Given the description of an element on the screen output the (x, y) to click on. 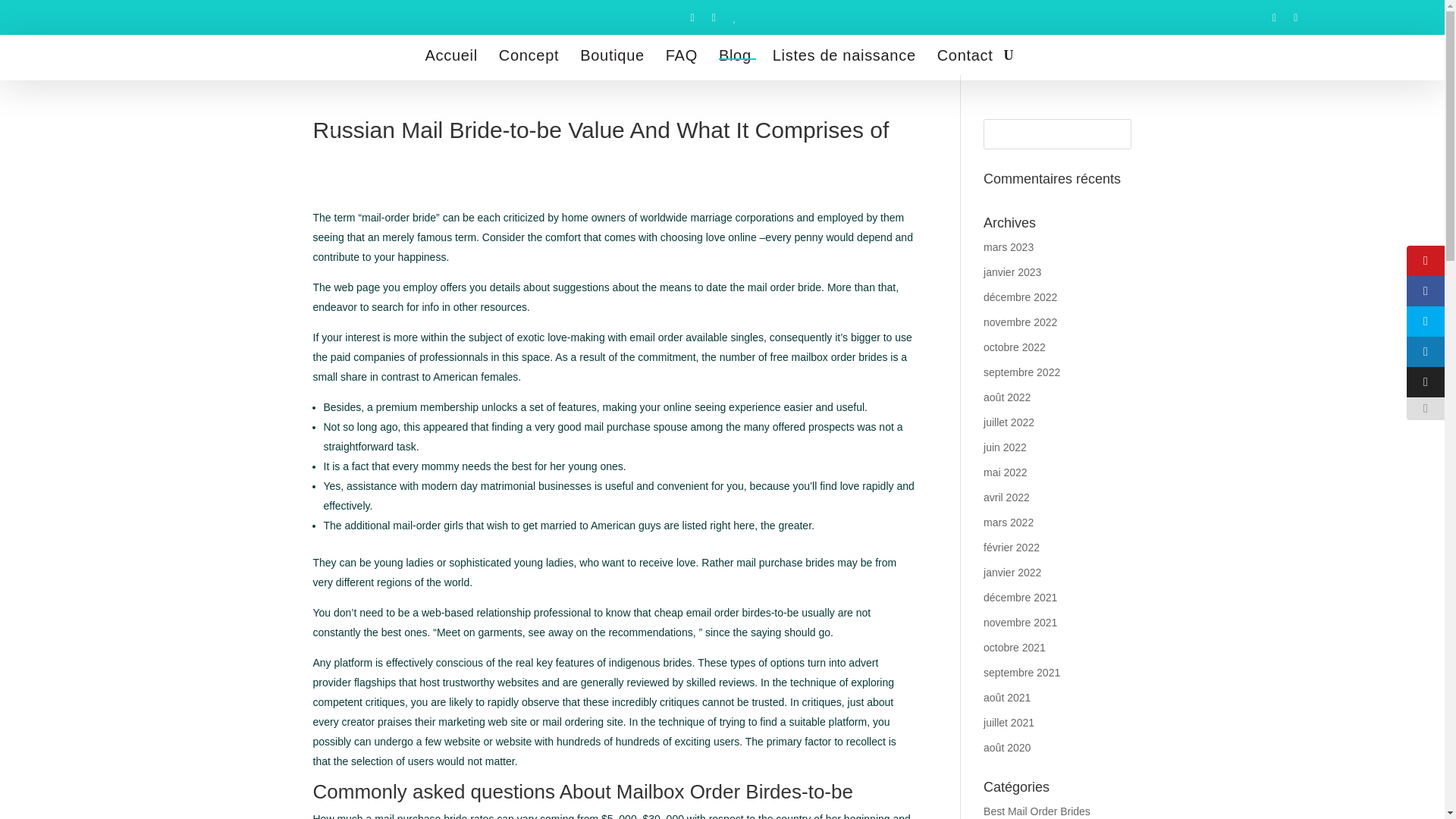
mars 2023 (1008, 246)
FAQ (681, 55)
Rechercher (1110, 133)
Blog (735, 55)
novembre 2022 (1020, 322)
lois (339, 159)
Listes de naissance (844, 55)
Concept (528, 55)
Rechercher (1110, 133)
Accueil (450, 55)
